Given the description of an element on the screen output the (x, y) to click on. 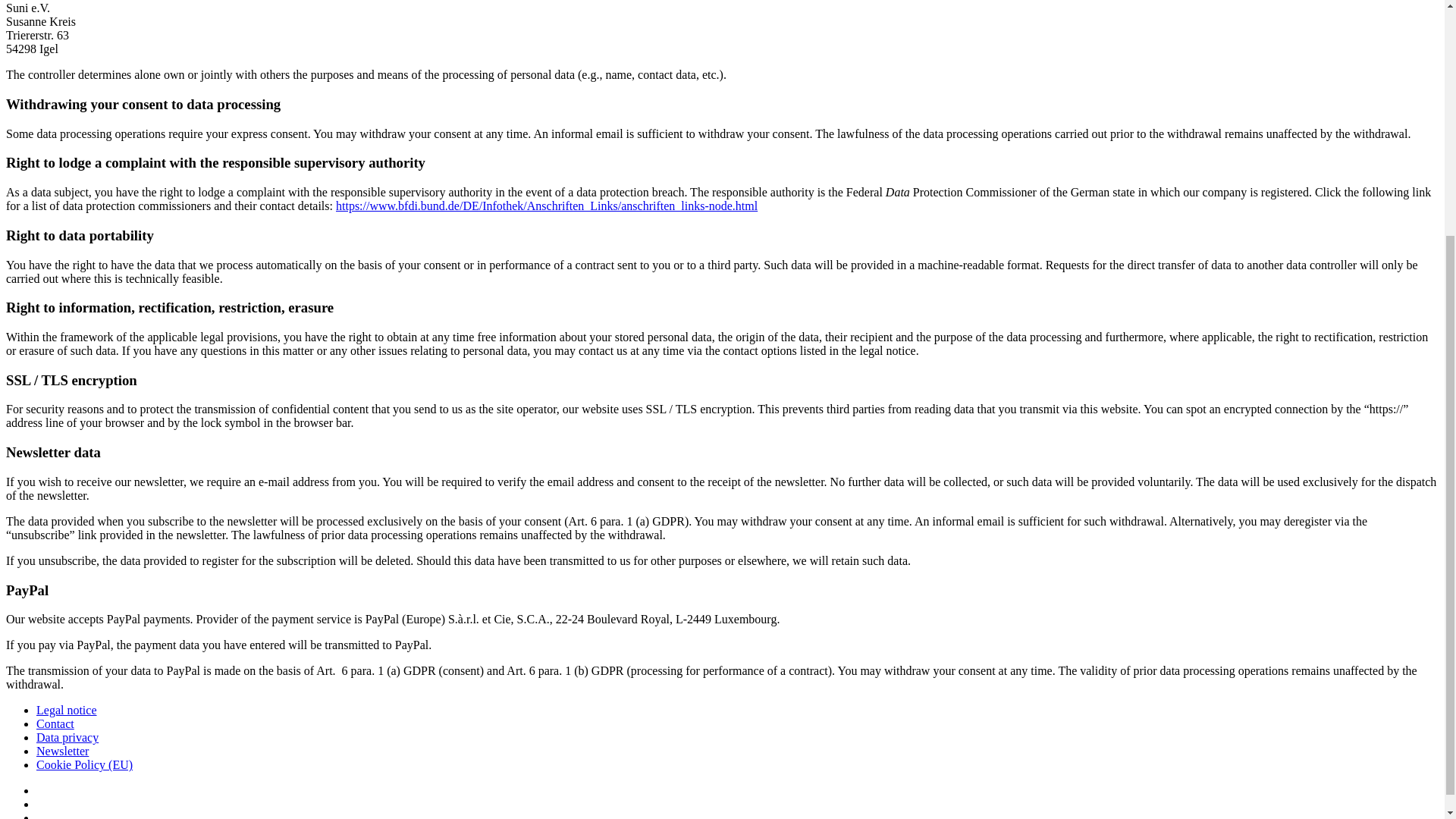
Data privacy (67, 737)
Contact (55, 723)
Legal notice (66, 709)
Newsletter (62, 750)
